Given the description of an element on the screen output the (x, y) to click on. 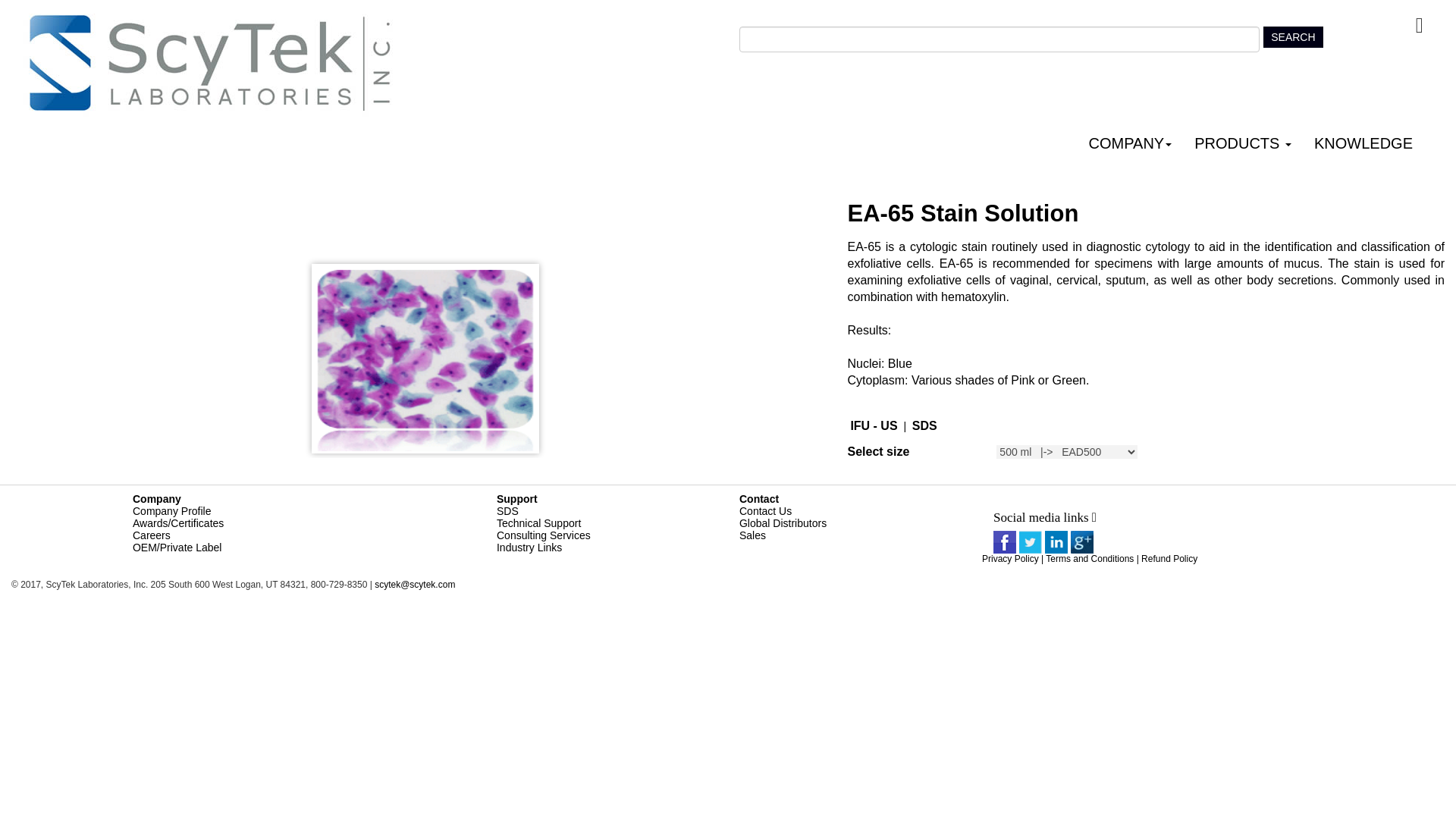
Privacy Policy (1010, 558)
Consulting Services (543, 535)
Technical Support (538, 522)
search (1292, 36)
Contact Us (765, 510)
Industry Links (529, 547)
Social media links (1095, 517)
Sales (752, 535)
KNOWLEDGE (1364, 143)
SDS (924, 425)
search (1292, 36)
search (1292, 36)
EA-65 Stain Solution (429, 358)
SDS (507, 510)
Company Profile (171, 510)
